Given the description of an element on the screen output the (x, y) to click on. 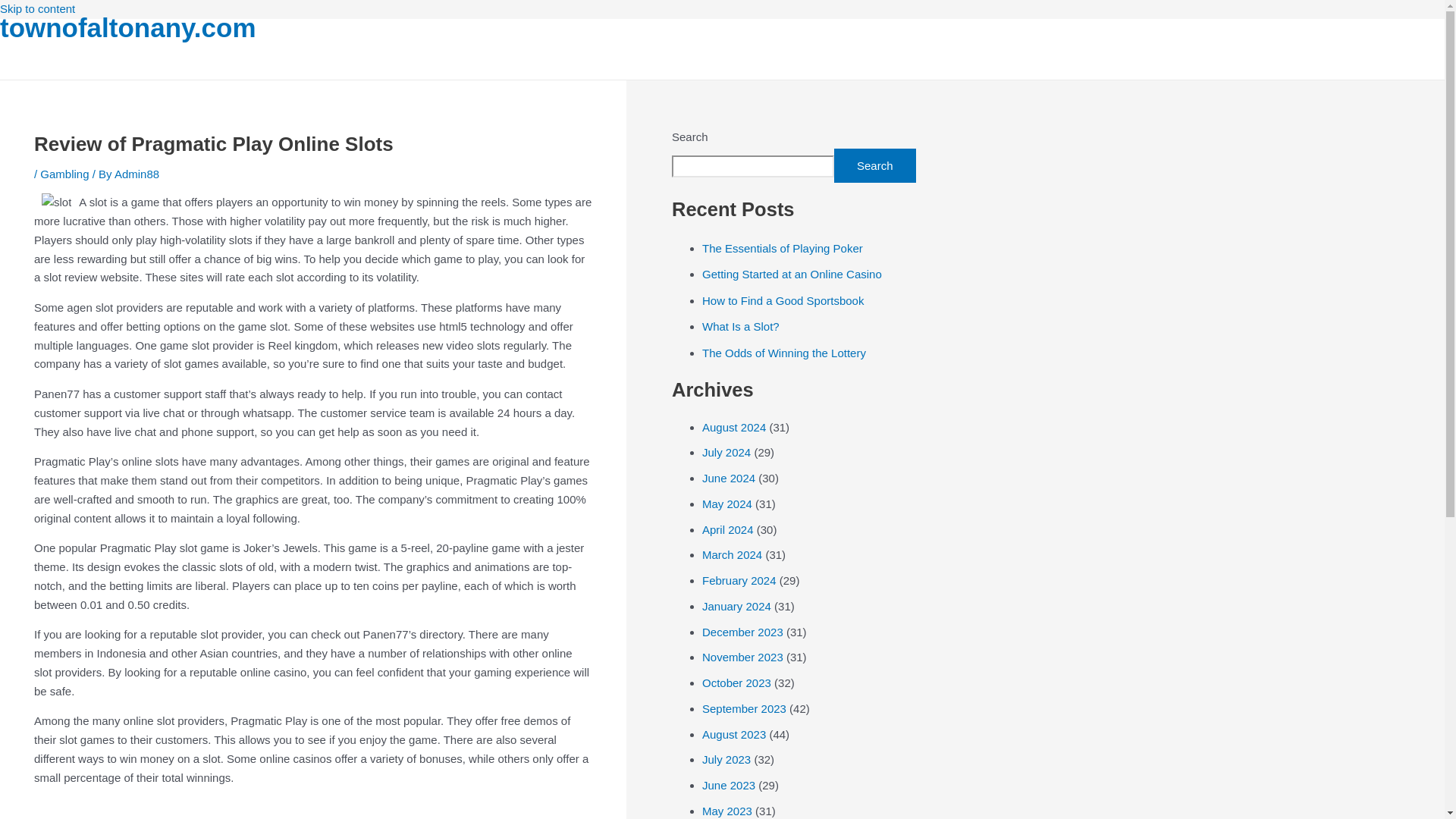
February 2024 (738, 580)
The Essentials of Playing Poker (782, 247)
June 2024 (728, 477)
January 2024 (736, 605)
Getting Started at an Online Casino (791, 273)
The Odds of Winning the Lottery (783, 352)
townofaltonany.com (128, 27)
July 2023 (726, 758)
December 2023 (742, 631)
Admin88 (136, 173)
